Given the description of an element on the screen output the (x, y) to click on. 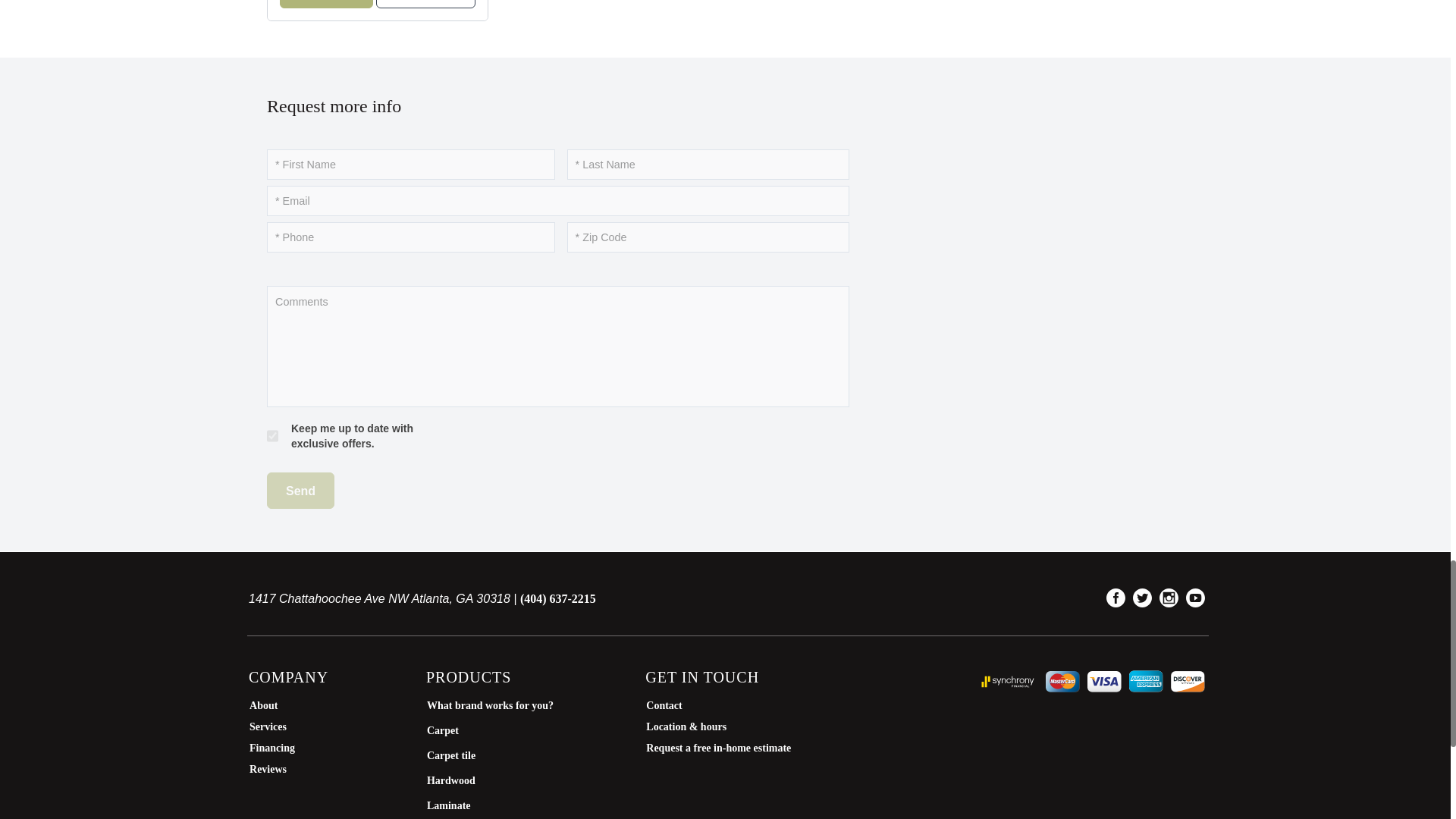
Facebook (1115, 597)
Keep me up to date with exclusive offers. (272, 435)
Twitter (1141, 597)
Send (300, 490)
